Given the description of an element on the screen output the (x, y) to click on. 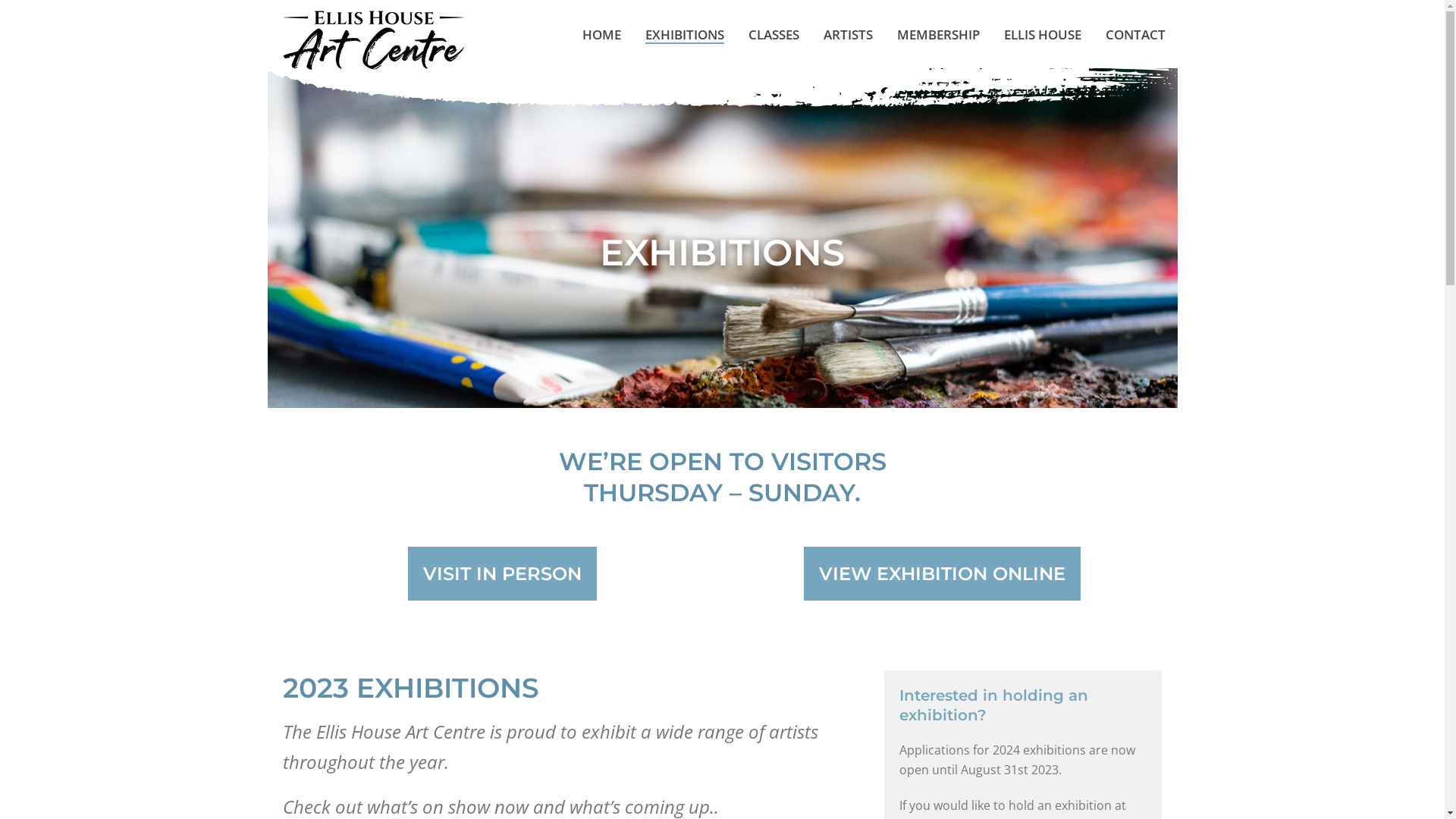
CLASSES Element type: text (772, 34)
CONTACT Element type: text (1135, 34)
VISIT IN PERSON Element type: text (501, 573)
ARTISTS Element type: text (847, 34)
MEMBERSHIP Element type: text (937, 34)
HOME Element type: text (601, 34)
EXHIBITIONS Element type: text (683, 34)
ELLIS HOUSE Element type: text (1042, 34)
VIEW EXHIBITION ONLINE Element type: text (941, 573)
